Given the description of an element on the screen output the (x, y) to click on. 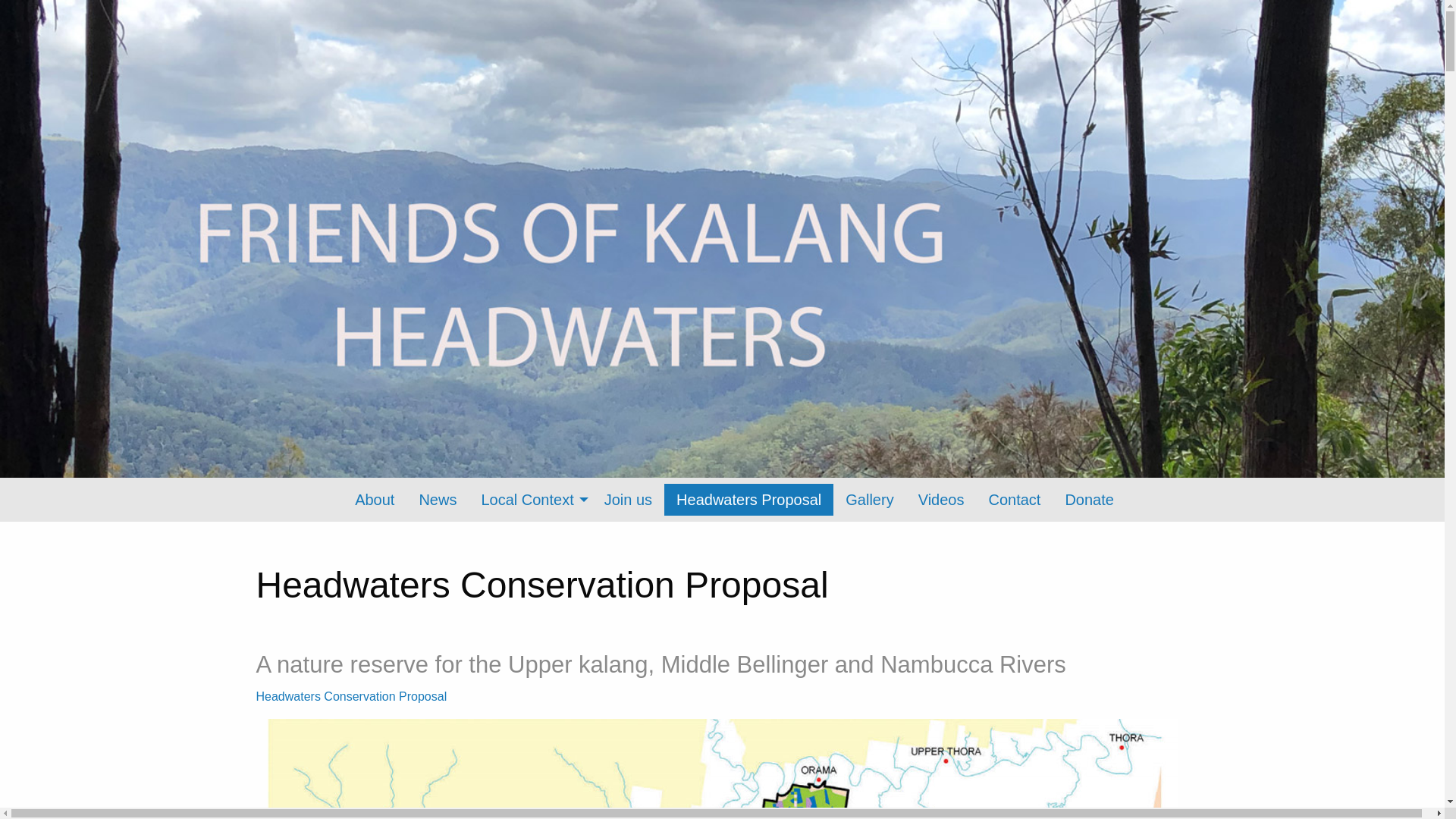
Headwaters Proposal Element type: text (748, 499)
Join us Element type: text (628, 499)
Local Context Element type: text (529, 499)
News Element type: text (437, 499)
Donate Element type: text (1089, 499)
About Element type: text (374, 499)
Gallery Element type: text (869, 499)
Contact Element type: text (1013, 499)
Headwaters Conservation Proposal  Element type: text (353, 696)
Videos Element type: text (941, 499)
